Given the description of an element on the screen output the (x, y) to click on. 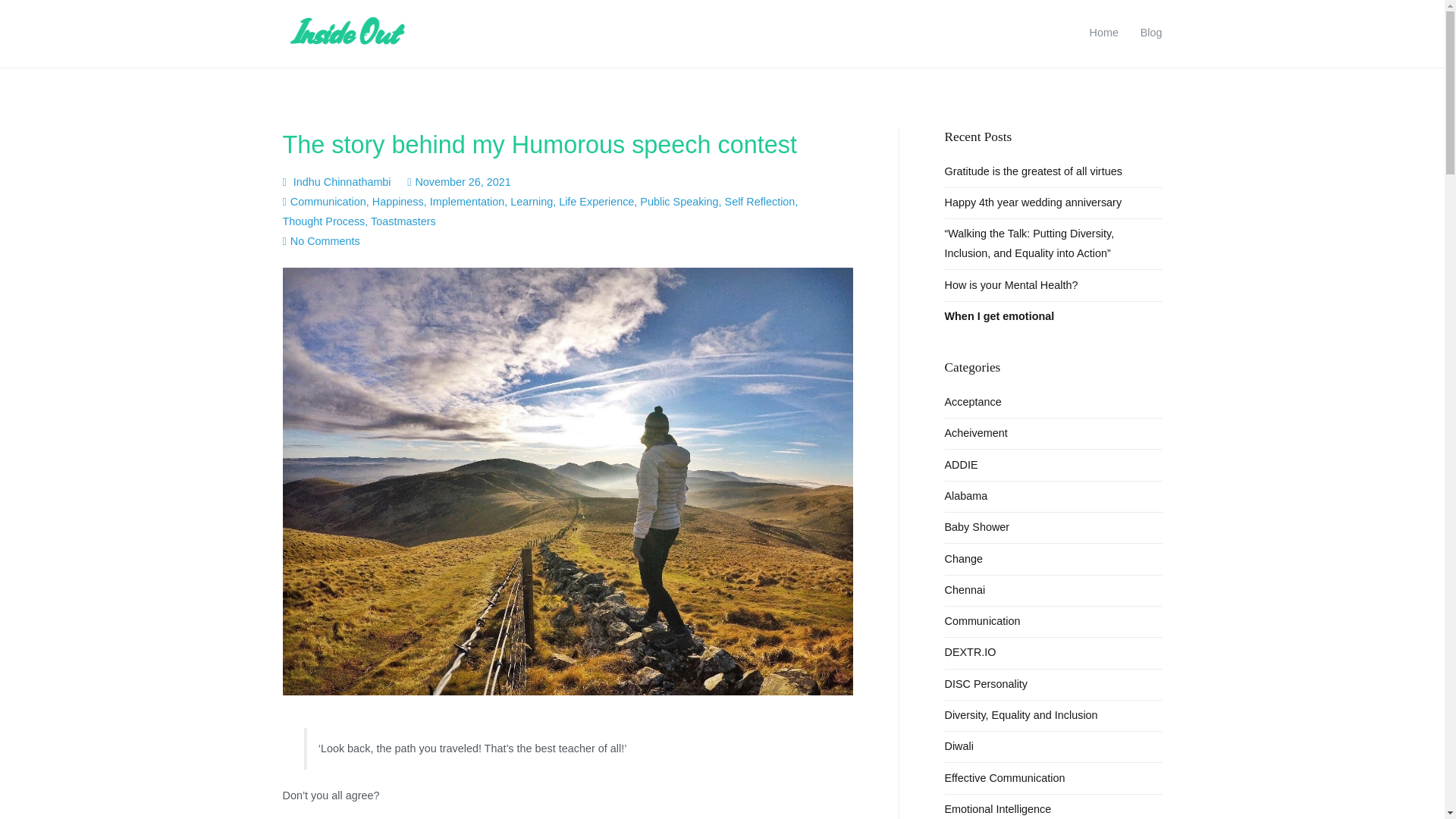
Public Speaking (678, 201)
Change (963, 558)
Communication (327, 201)
Blog (1150, 33)
Alabama (966, 496)
Acceptance (972, 402)
When I get emotional (999, 317)
Gratitude is the greatest of all virtues (1033, 172)
Home (1103, 33)
